Given the description of an element on the screen output the (x, y) to click on. 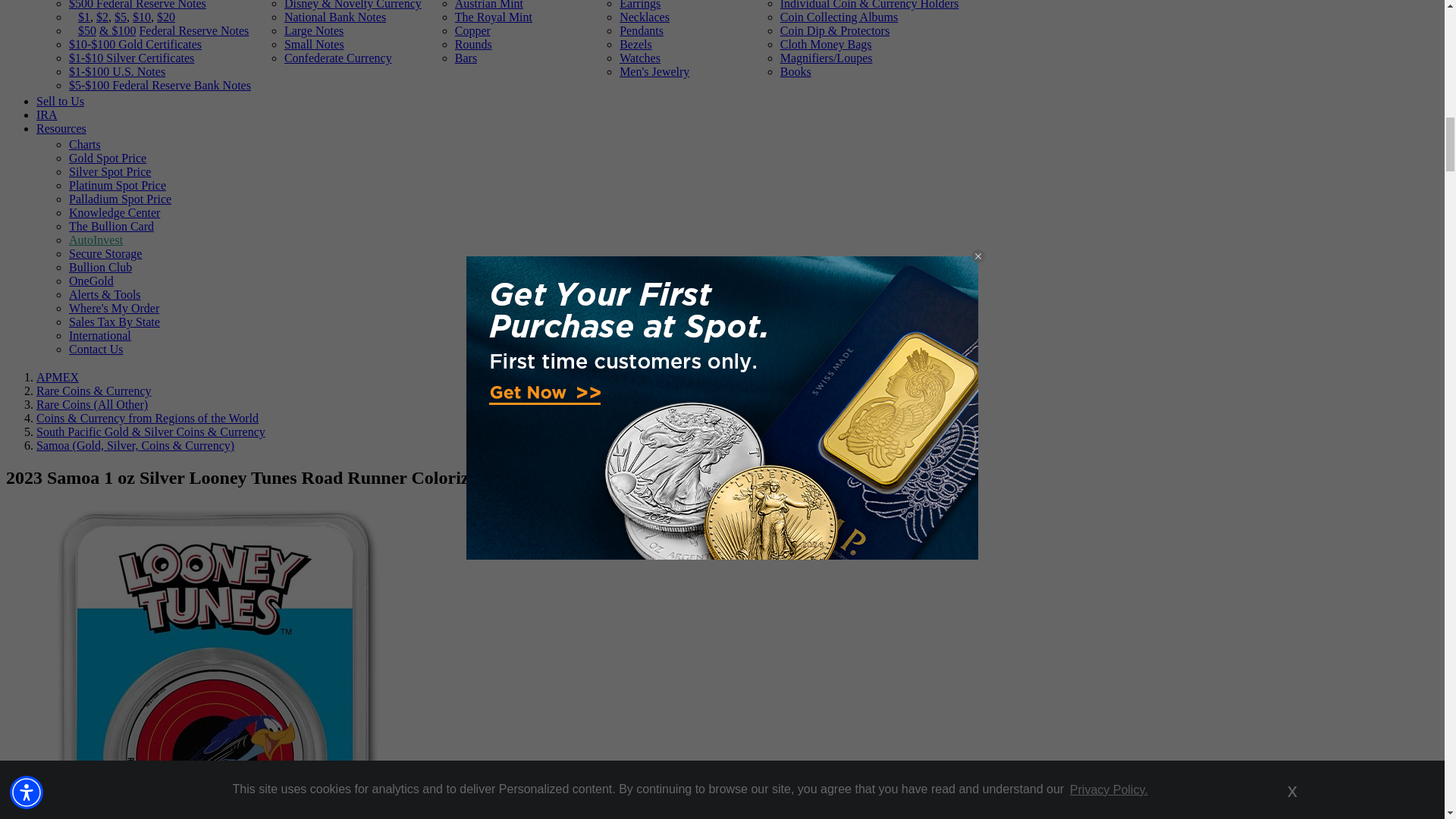
Home (57, 377)
